Given the description of an element on the screen output the (x, y) to click on. 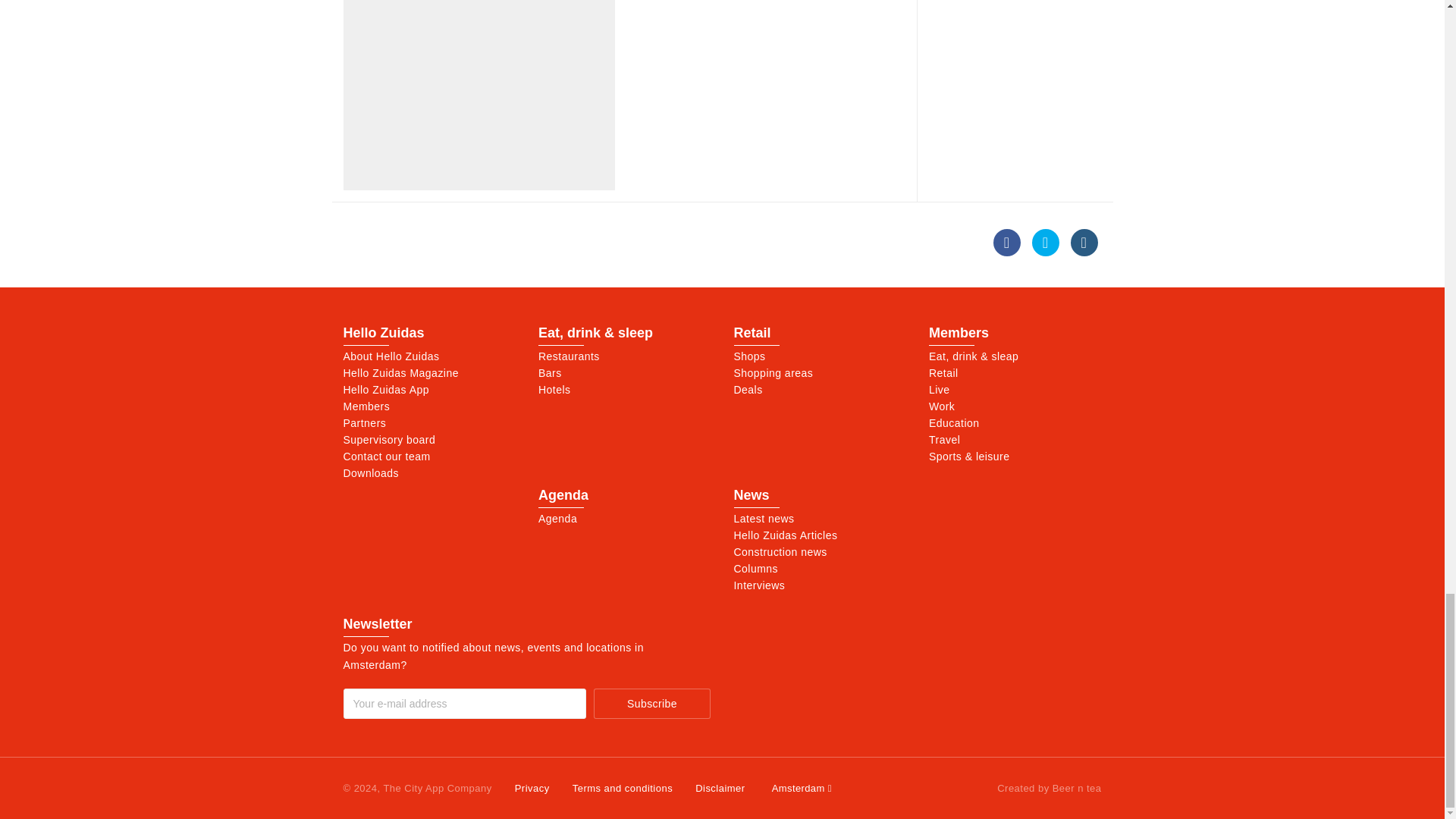
Subscribe (651, 703)
Twitter (1045, 242)
Instagram (1083, 242)
Facebook (1006, 242)
